Given the description of an element on the screen output the (x, y) to click on. 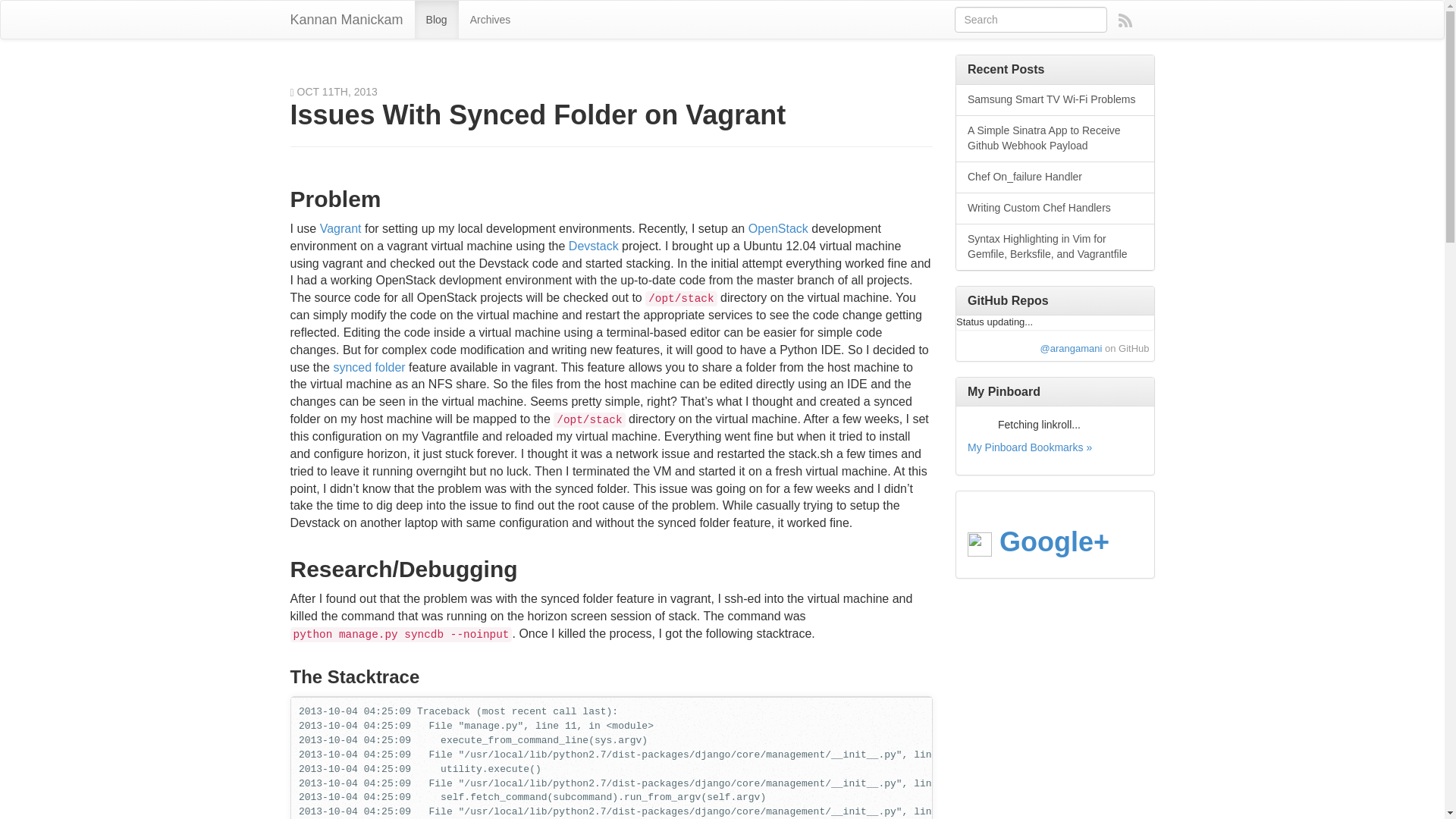
Blog (436, 19)
Writing Custom Chef Handlers (1055, 208)
A Simple Sinatra App to Receive Github Webhook Payload (1055, 138)
Archives (490, 19)
synced folder (368, 367)
Devstack (593, 245)
Vagrant (340, 228)
Samsung Smart TV Wi-Fi Problems (1055, 100)
OpenStack (778, 228)
subscribe via RSS (1124, 19)
Kannan Manickam (346, 19)
